Given the description of an element on the screen output the (x, y) to click on. 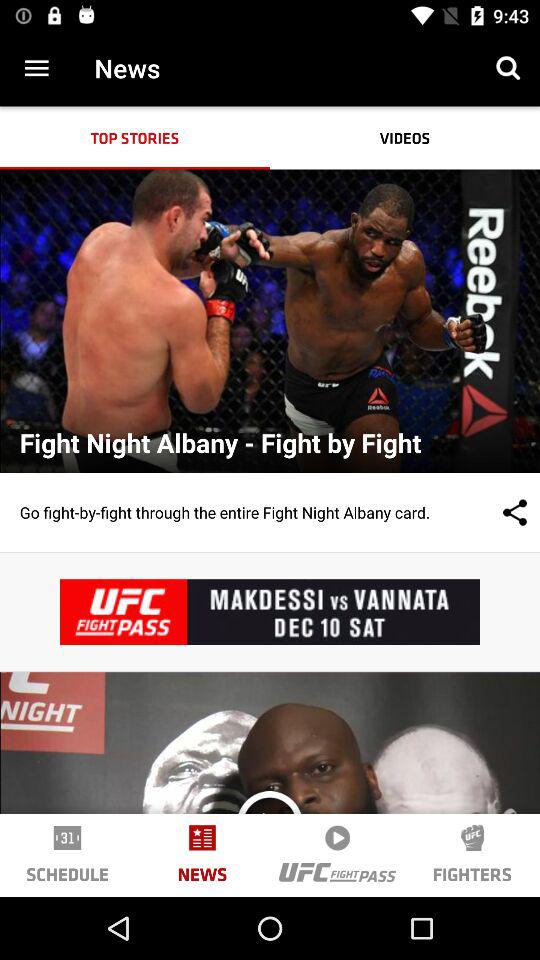
share with others (495, 512)
